Given the description of an element on the screen output the (x, y) to click on. 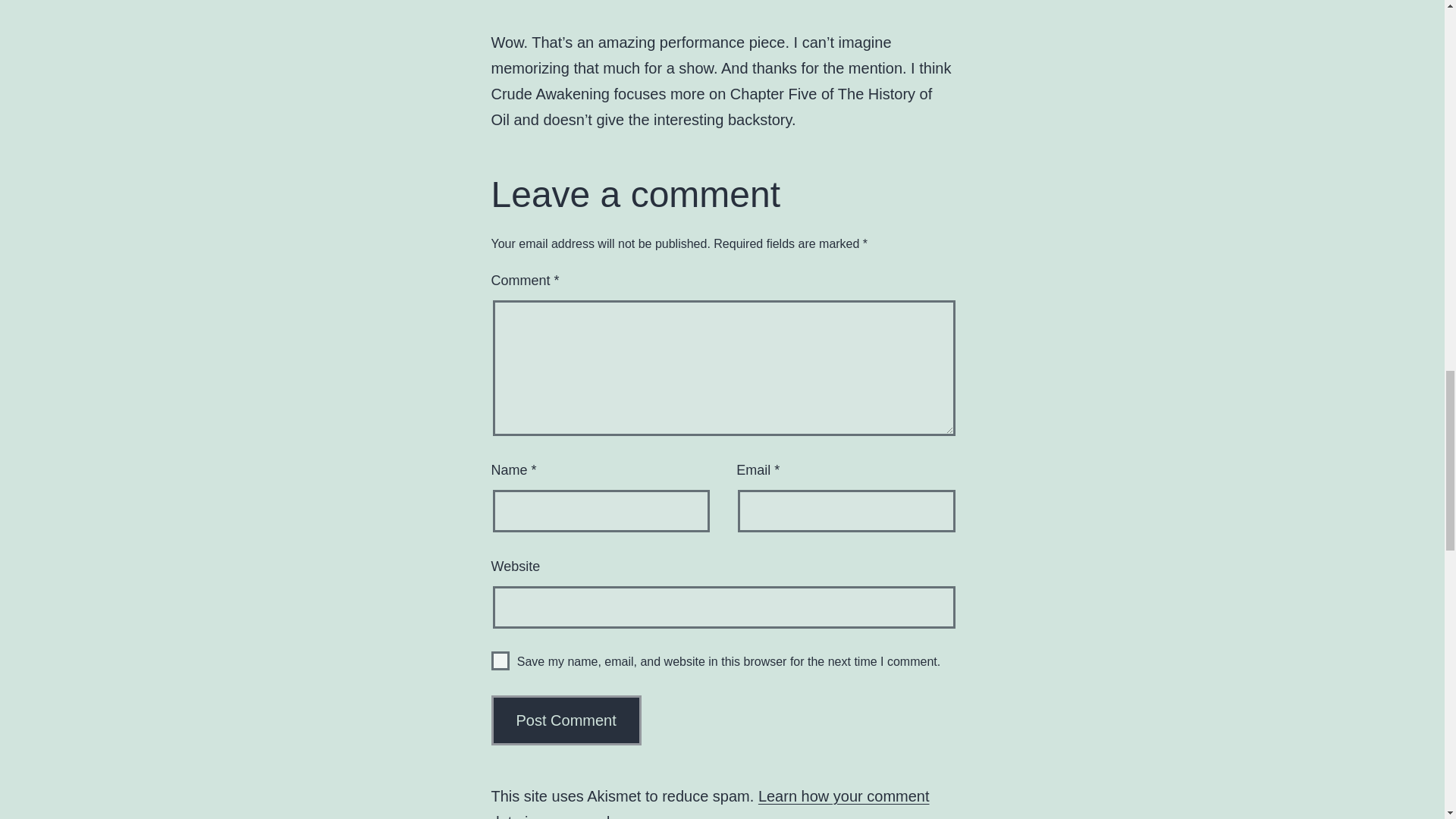
yes (500, 660)
Learn how your comment data is processed (711, 803)
Post Comment (567, 720)
Post Comment (567, 720)
